Given the description of an element on the screen output the (x, y) to click on. 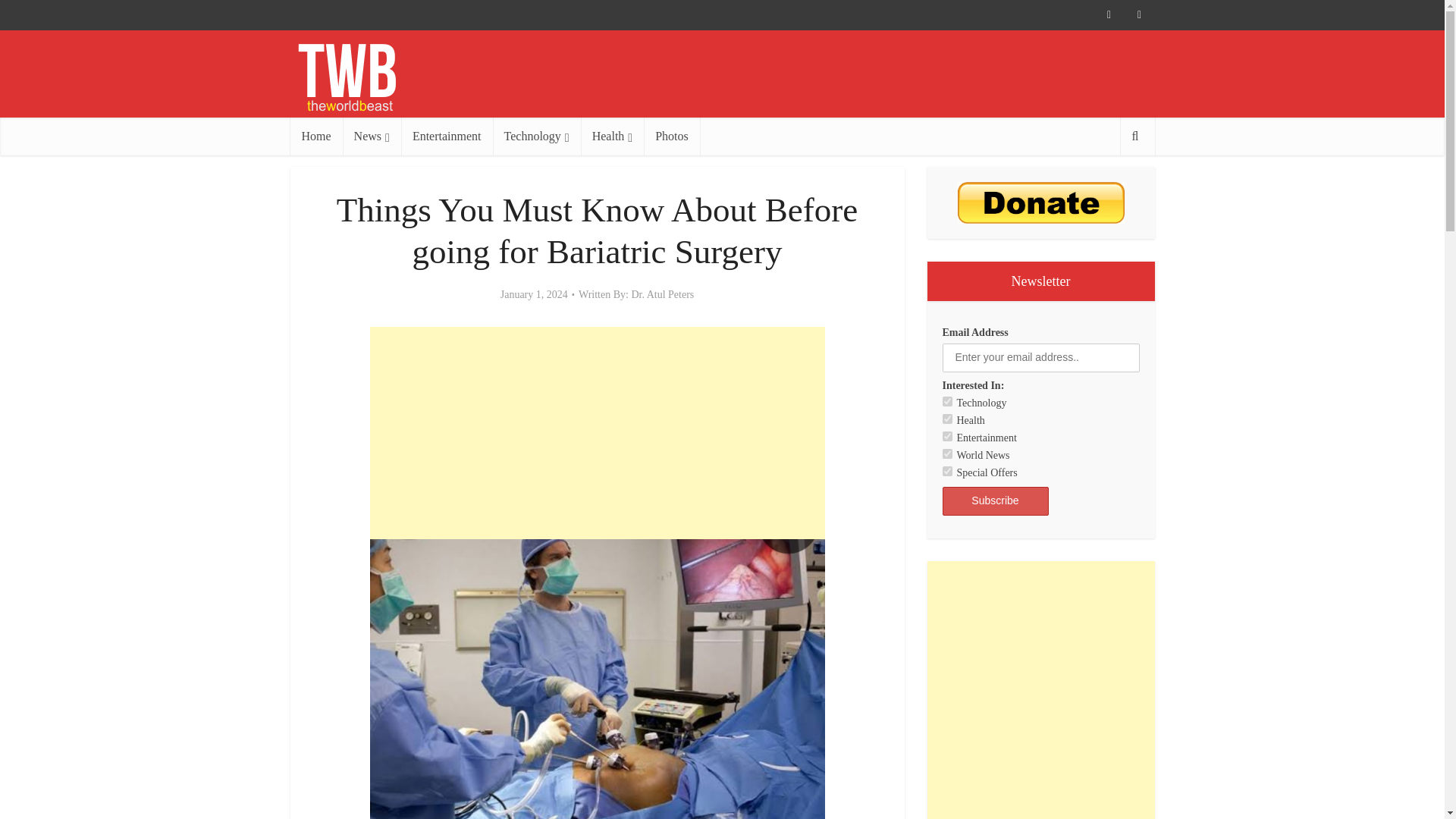
World News (947, 453)
Subscribe (995, 500)
Entertainment (447, 136)
News (371, 136)
Technology (536, 136)
Special Offers (947, 470)
Home (315, 136)
Subscribe (995, 500)
Health (947, 419)
Health (612, 136)
